Given the description of an element on the screen output the (x, y) to click on. 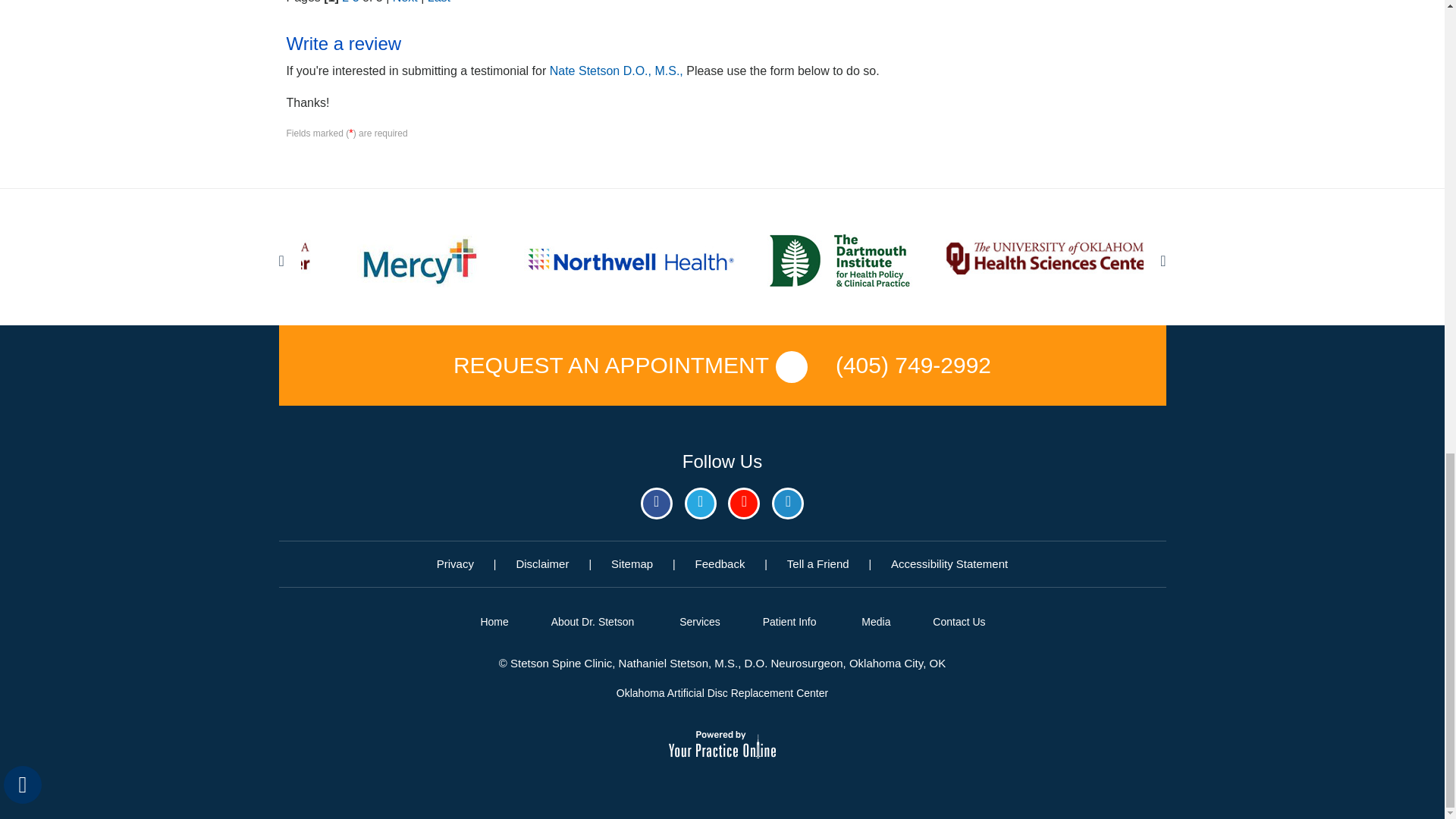
Next Page (405, 2)
Last Page (438, 2)
